Given the description of an element on the screen output the (x, y) to click on. 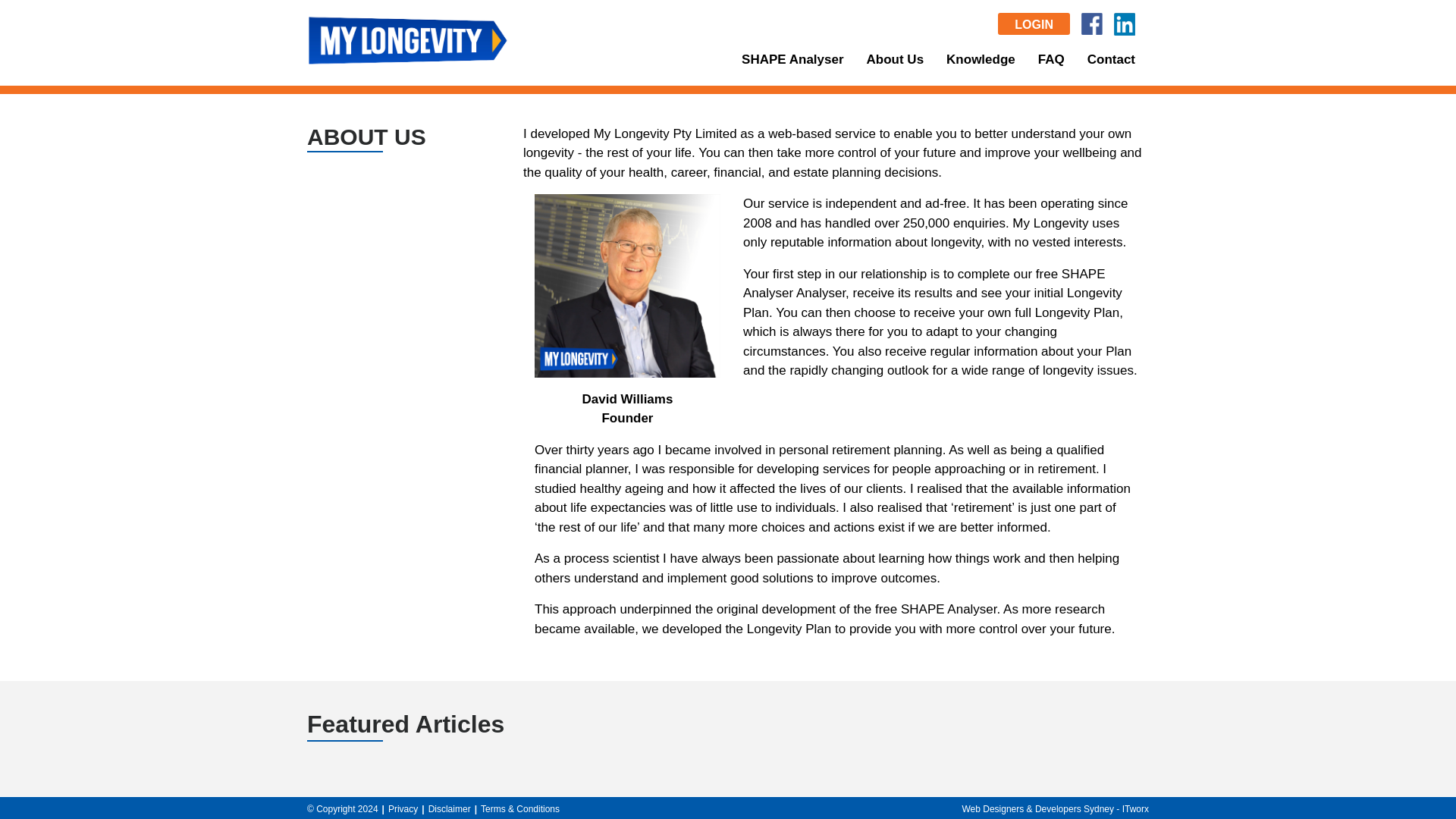
Answers to frequent questions about longevity (1051, 59)
About Us (895, 59)
FAQ (1051, 59)
Knowledge (980, 59)
About My Longevity (895, 59)
Contact (1111, 59)
Library of information about longevity (980, 59)
LOGIN (1033, 24)
Contact Us (1111, 59)
SHAPE Analyser (792, 59)
